Given the description of an element on the screen output the (x, y) to click on. 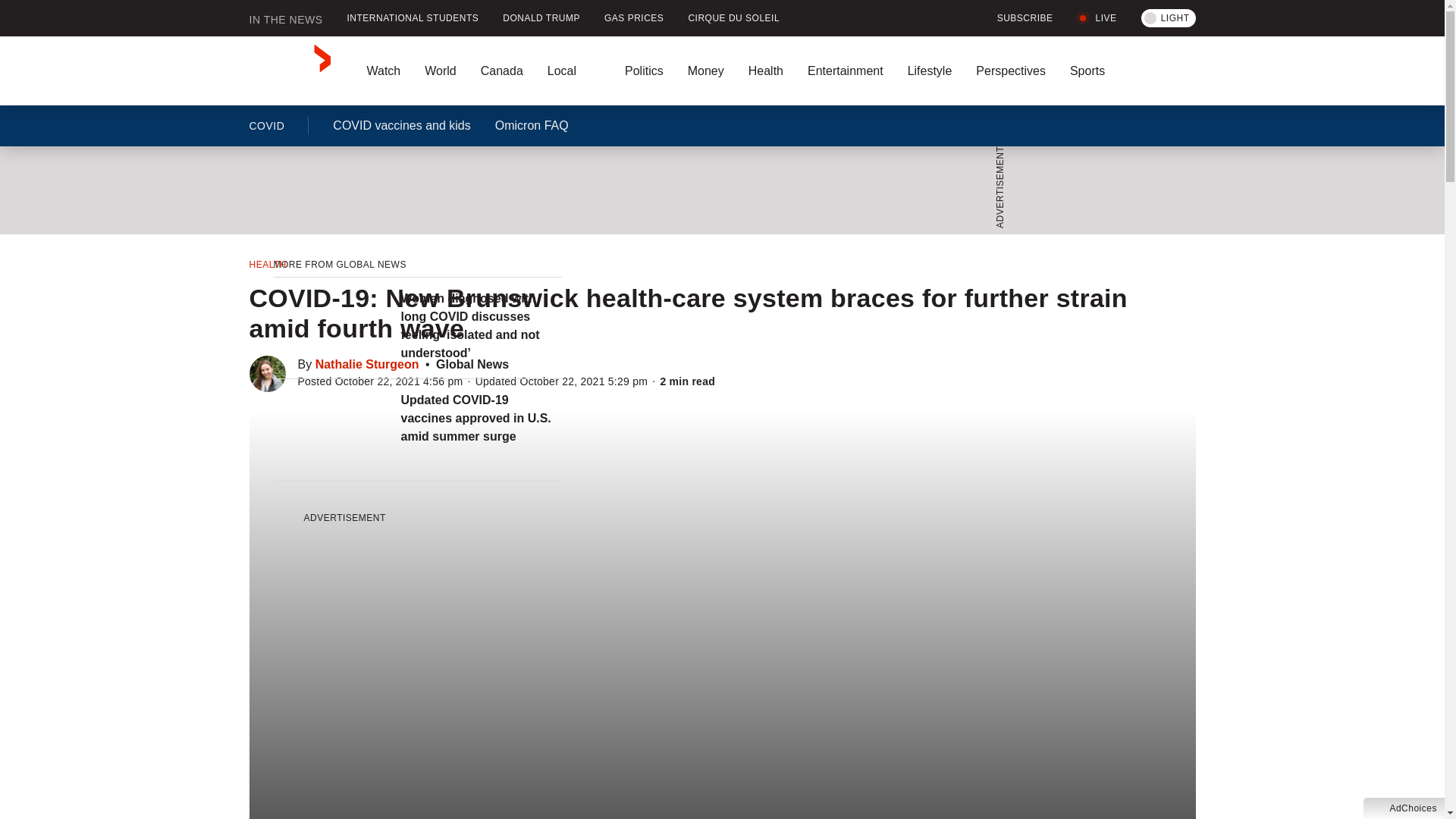
Politics (643, 70)
GlobalNews home (289, 70)
Updated COVID-19 vaccines approved in U.S. amid summer surge (480, 418)
GAS PRICES (633, 18)
Lifestyle (929, 70)
DONALD TRUMP (541, 18)
Canada (501, 70)
LIVE (1096, 18)
INTERNATIONAL STUDENTS (413, 18)
Posts by Nathalie Sturgeon (367, 364)
